Given the description of an element on the screen output the (x, y) to click on. 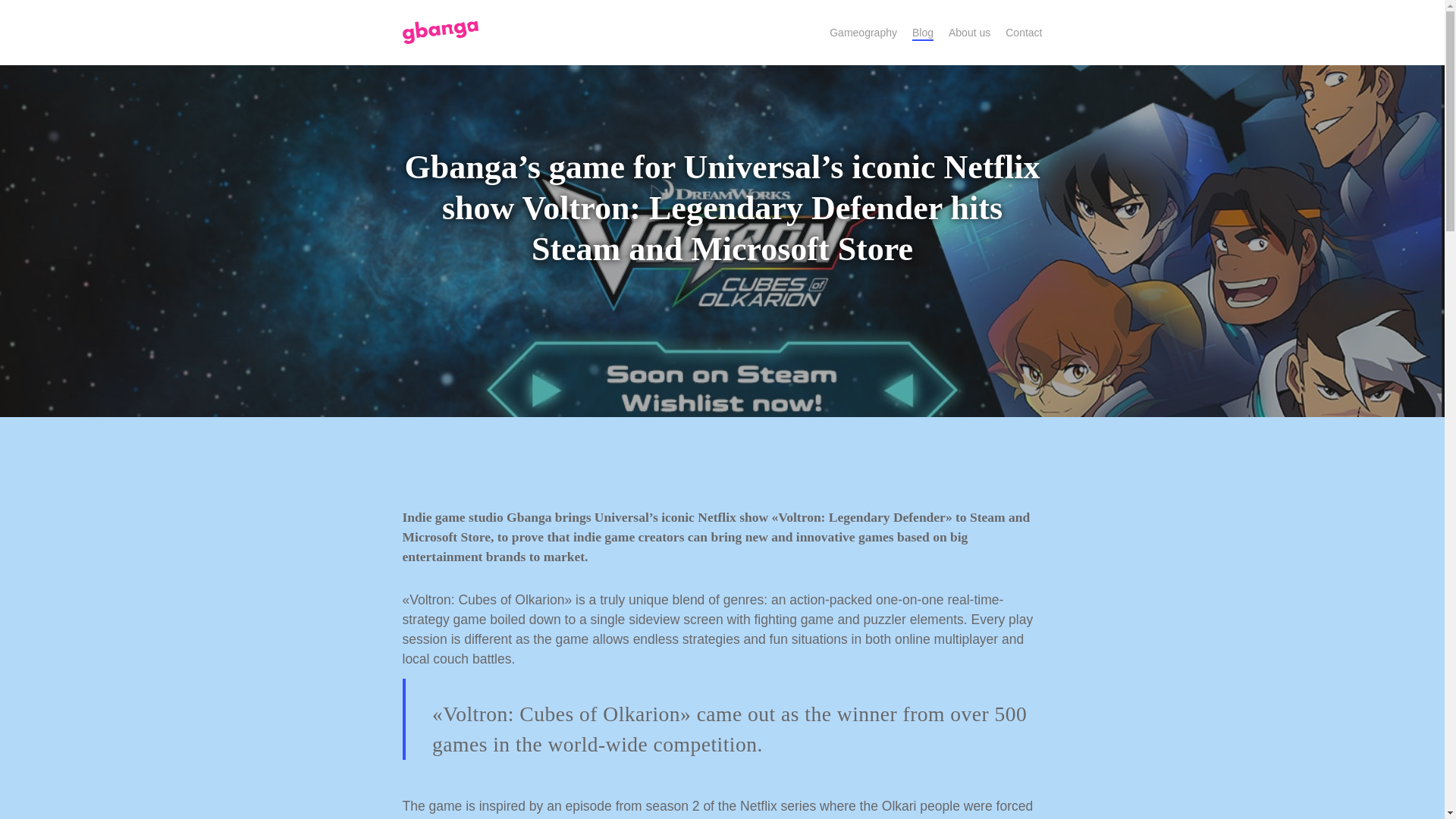
Get in touch with the Swiss games studio Gbanga (1024, 32)
Gameography (862, 32)
About us (969, 32)
Blog (922, 32)
About mixed-reality games studio Gbanga (969, 32)
Contact (1024, 32)
The game work Gbanga has delivered up to today (862, 32)
